Given the description of an element on the screen output the (x, y) to click on. 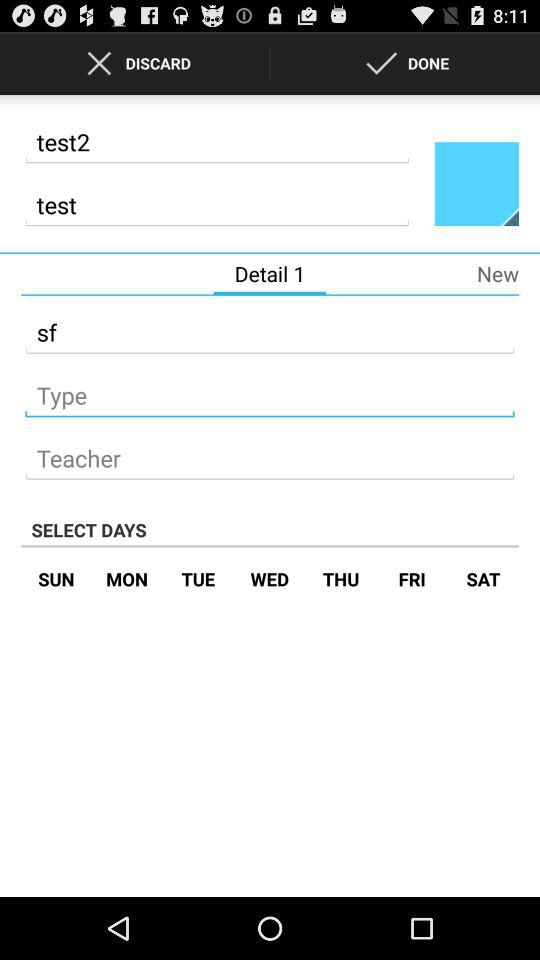
add image (477, 183)
